Given the description of an element on the screen output the (x, y) to click on. 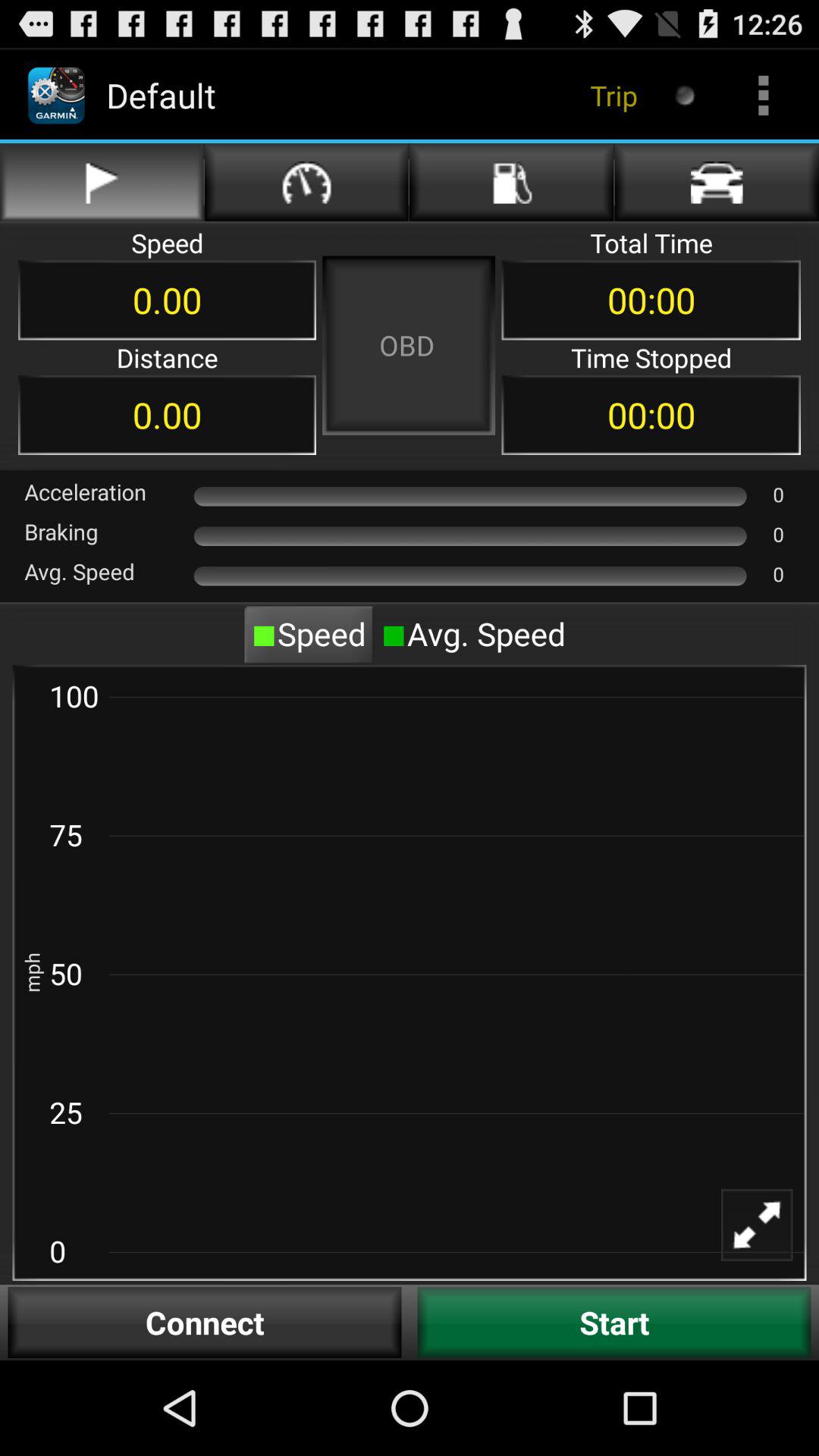
full screen (766, 1234)
